Given the description of an element on the screen output the (x, y) to click on. 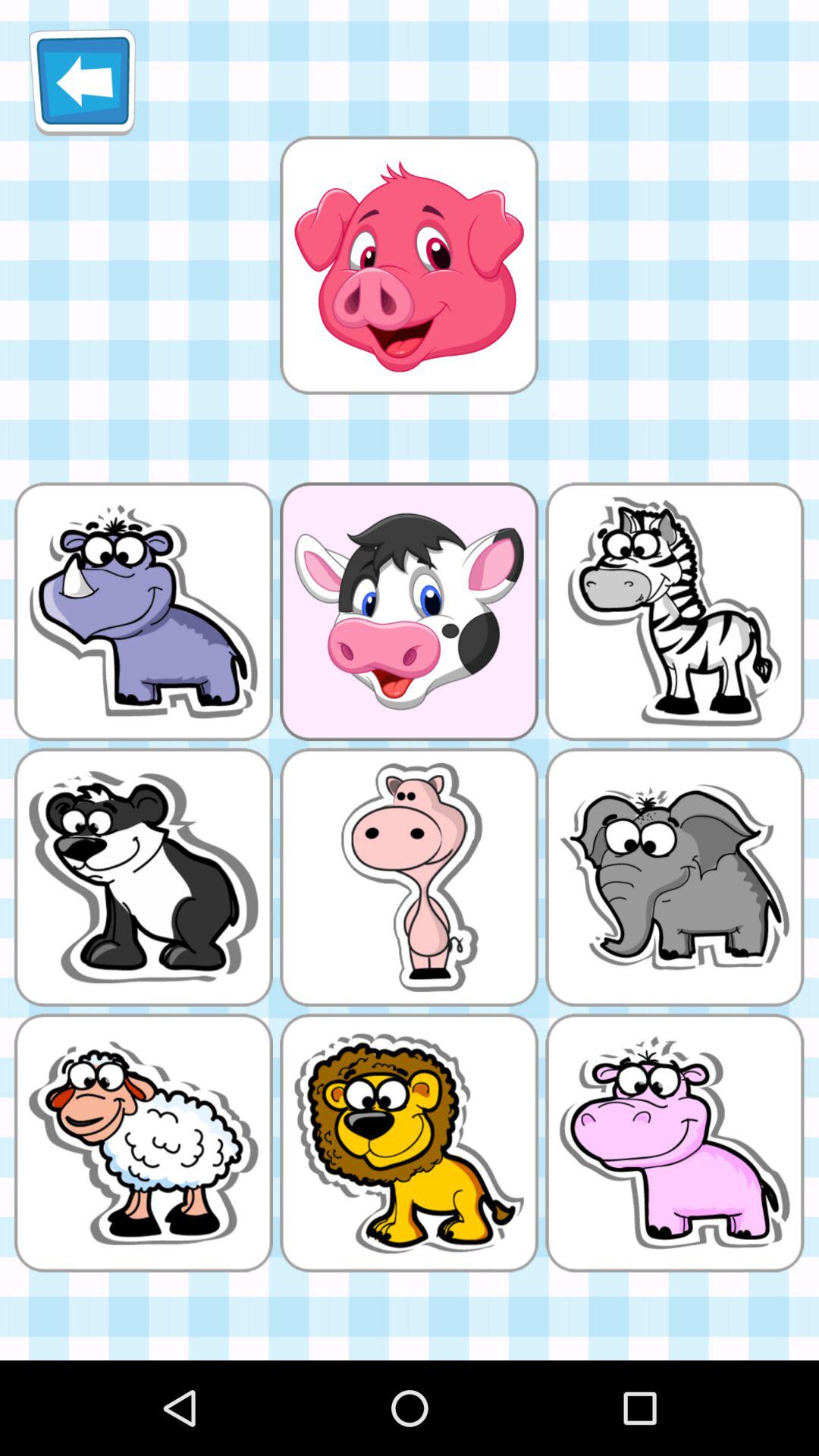
avatar selection (409, 264)
